Given the description of an element on the screen output the (x, y) to click on. 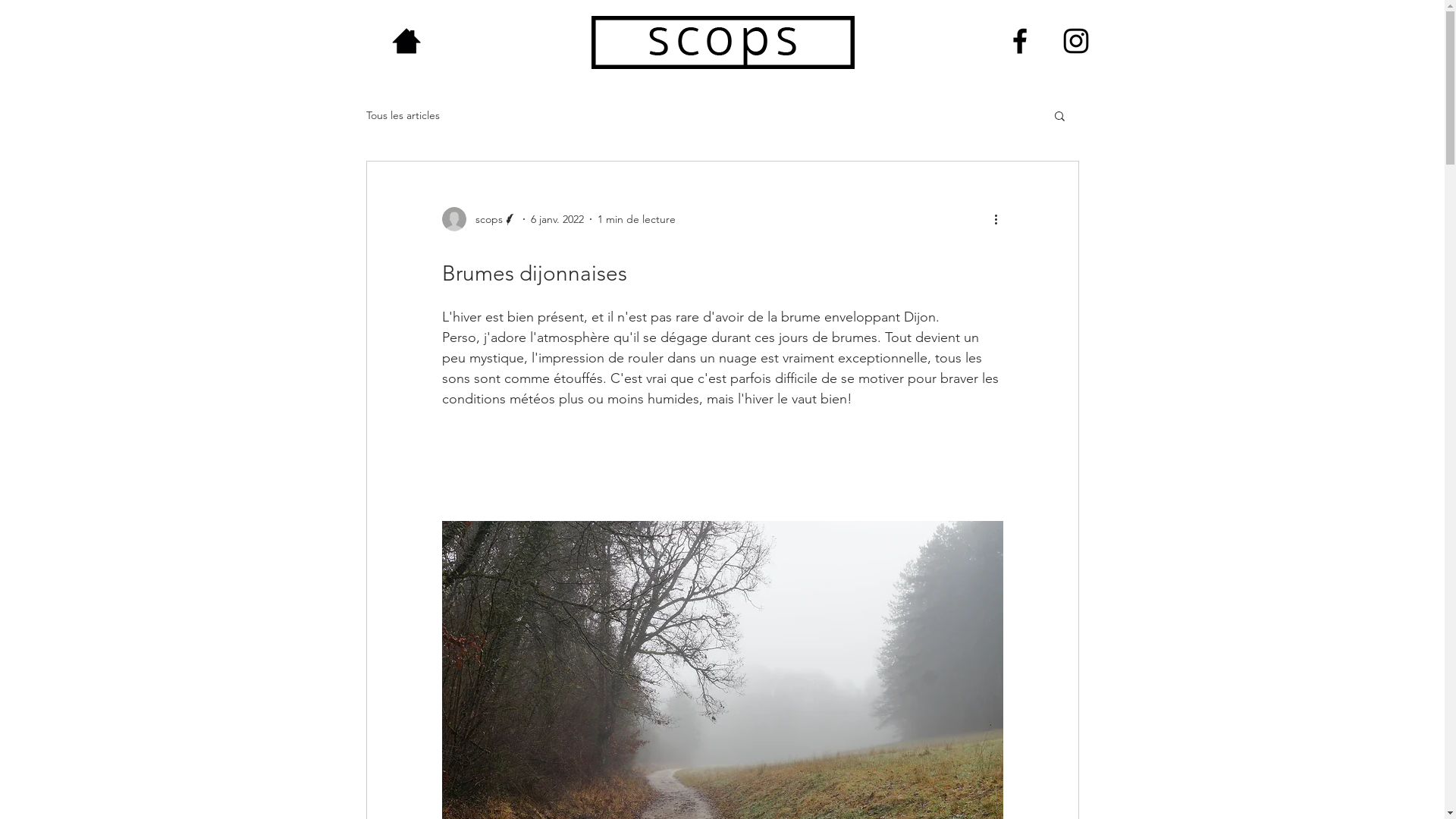
Tous les articles Element type: text (402, 115)
scops Element type: text (478, 219)
